Given the description of an element on the screen output the (x, y) to click on. 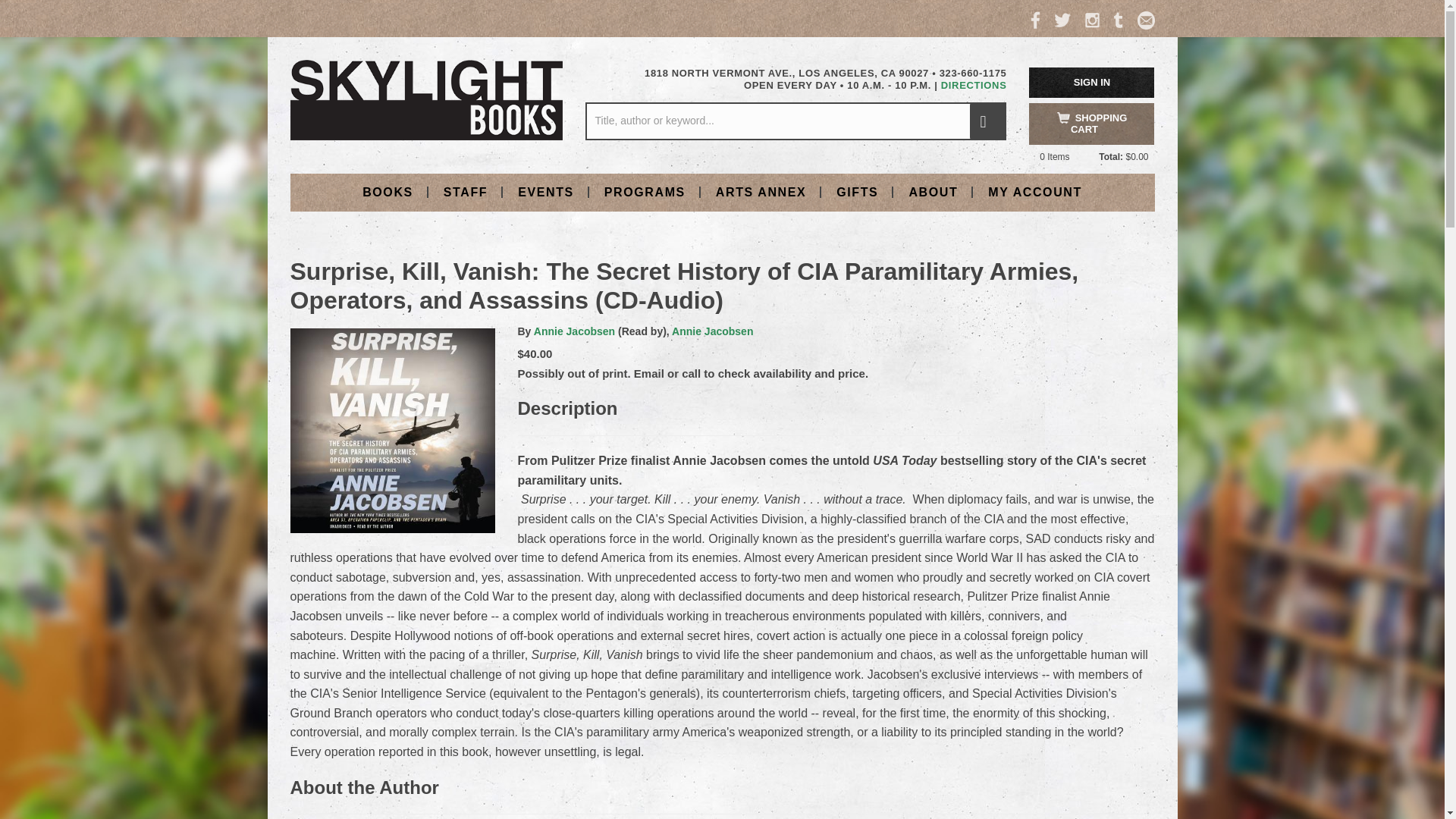
DIRECTIONS (973, 84)
search (987, 121)
SIGN IN (1091, 81)
SHOPPING CART (1091, 123)
PROGRAMS (644, 191)
GIFTS (857, 191)
Title, author or keyword... (795, 121)
ARTS ANNEX (760, 191)
Home (425, 98)
search (987, 121)
EVENTS (545, 191)
STAFF (465, 191)
BOOKS (387, 191)
